Given the description of an element on the screen output the (x, y) to click on. 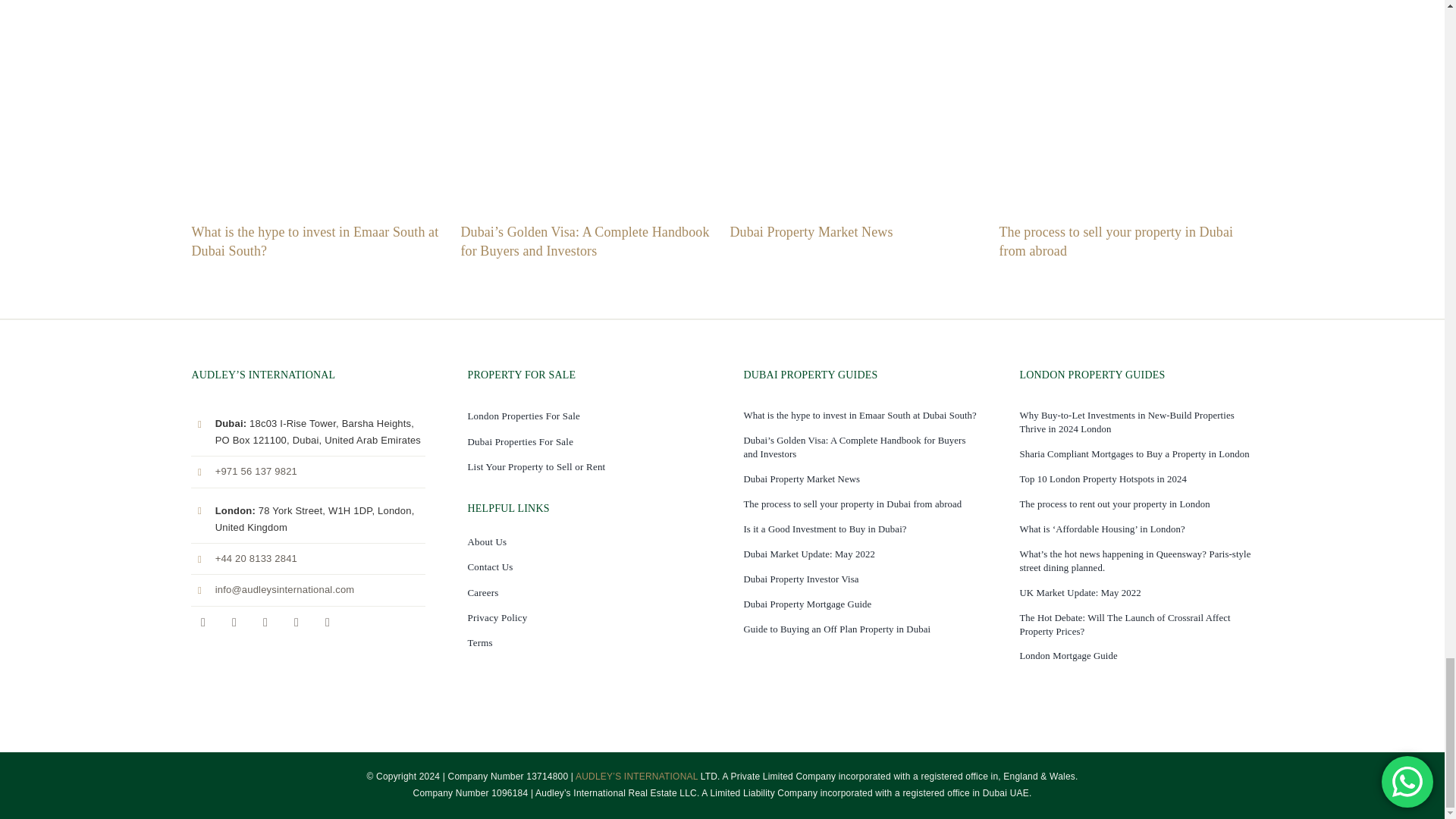
The process to sell your property in Dubai from abroad (1115, 241)
Dubai Property Investor Visa 7 (1125, 115)
Dubai Property Market News (810, 231)
Dubai Property Investor Visa 4 (317, 115)
Dubai Property Investor Visa 5 (587, 115)
What is the hype to invest in Emaar South at Dubai South? (314, 241)
Dubai Property Investor Visa 6 (856, 115)
